Given the description of an element on the screen output the (x, y) to click on. 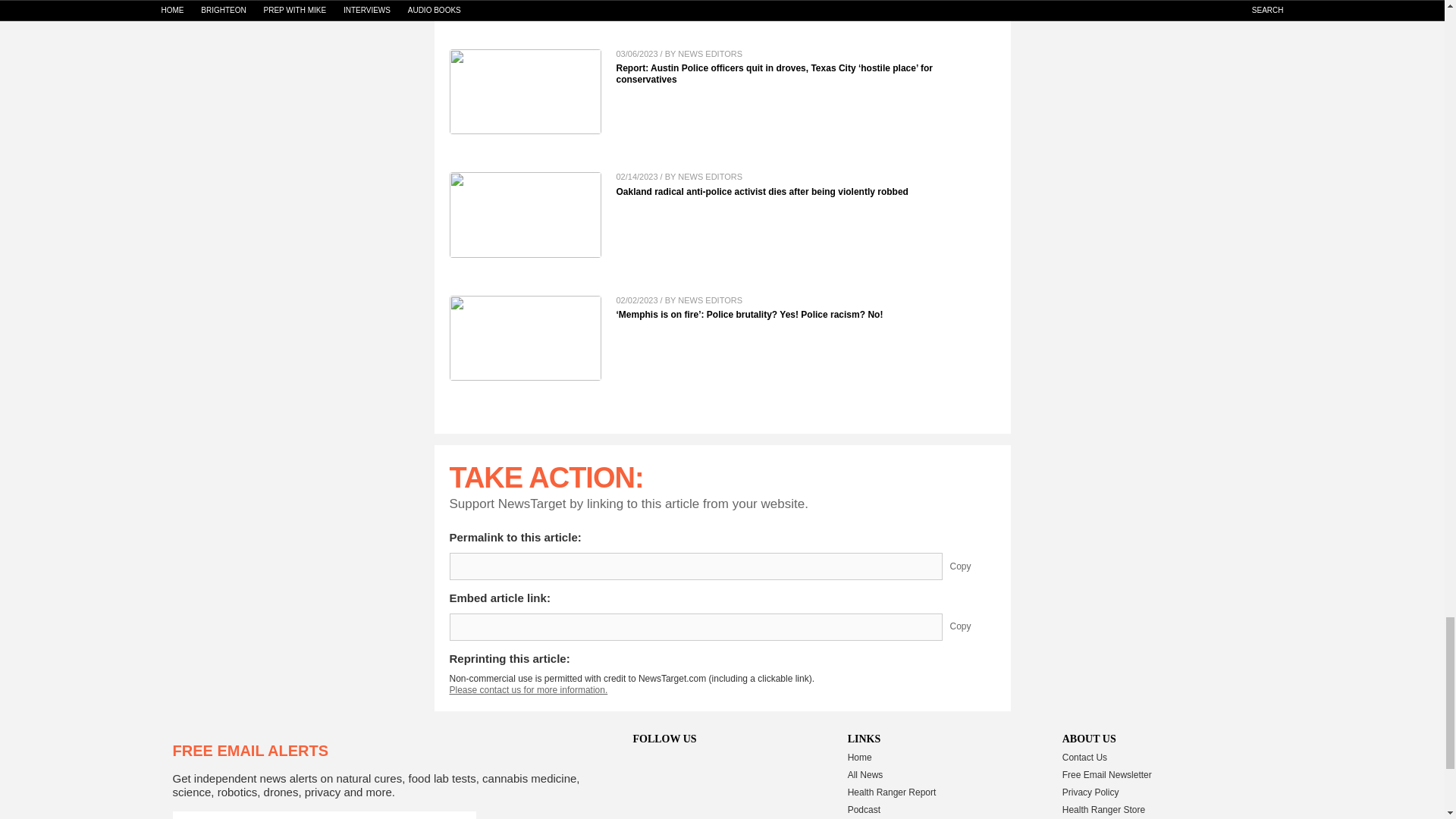
Continue (459, 815)
Copy Permalink (971, 565)
Copy Embed Link (971, 626)
